Given the description of an element on the screen output the (x, y) to click on. 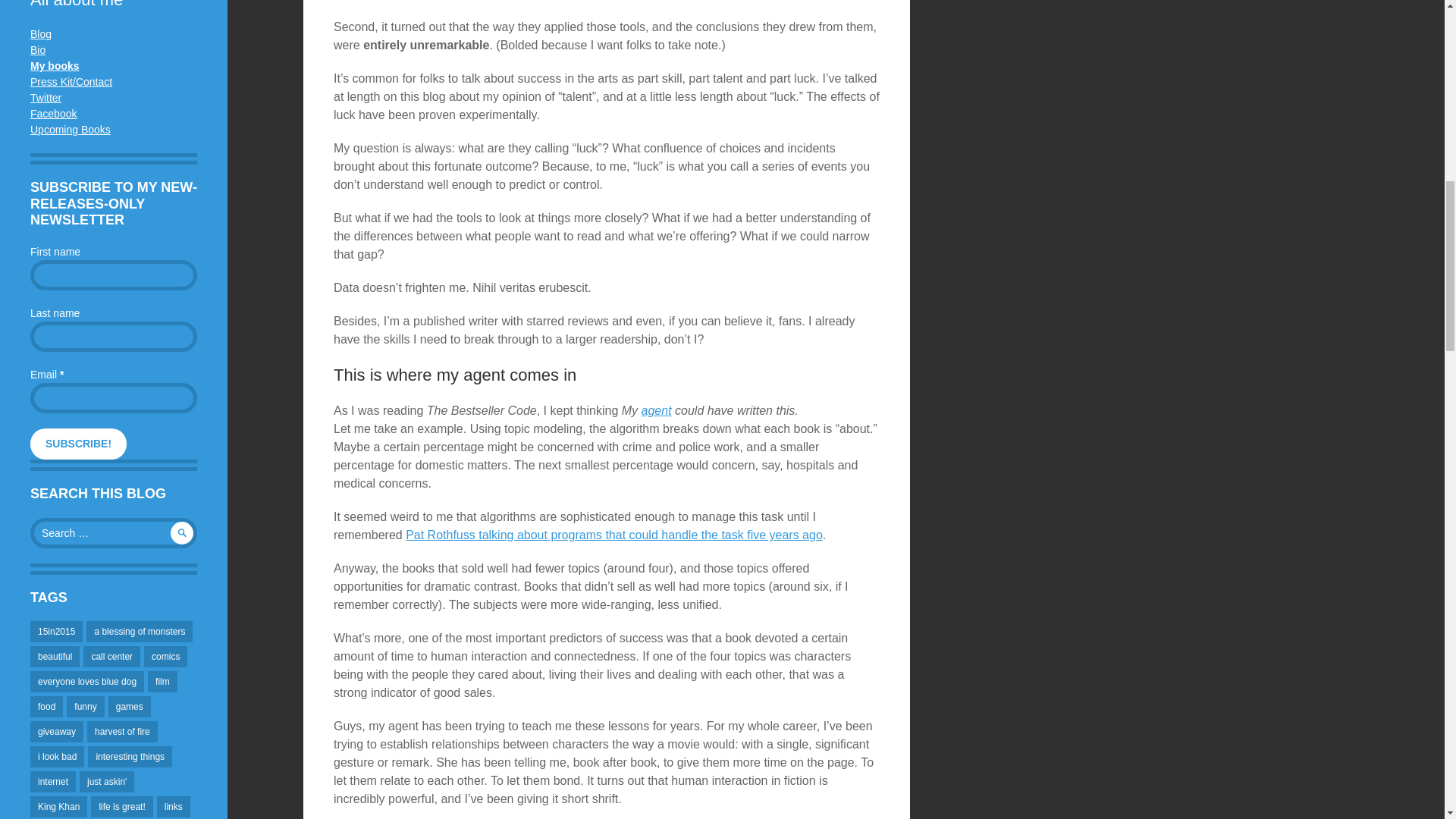
call center (110, 656)
life is great! (121, 806)
links (173, 806)
a blessing of monsters (138, 631)
everyone loves blue dog (87, 681)
i look bad (57, 756)
Home page (55, 65)
Subscribe! (78, 443)
My books (55, 65)
Upcoming Books (70, 129)
comics (165, 656)
Of a sort (37, 50)
Search for: (113, 532)
15in2015 (56, 631)
Last name (113, 336)
